Given the description of an element on the screen output the (x, y) to click on. 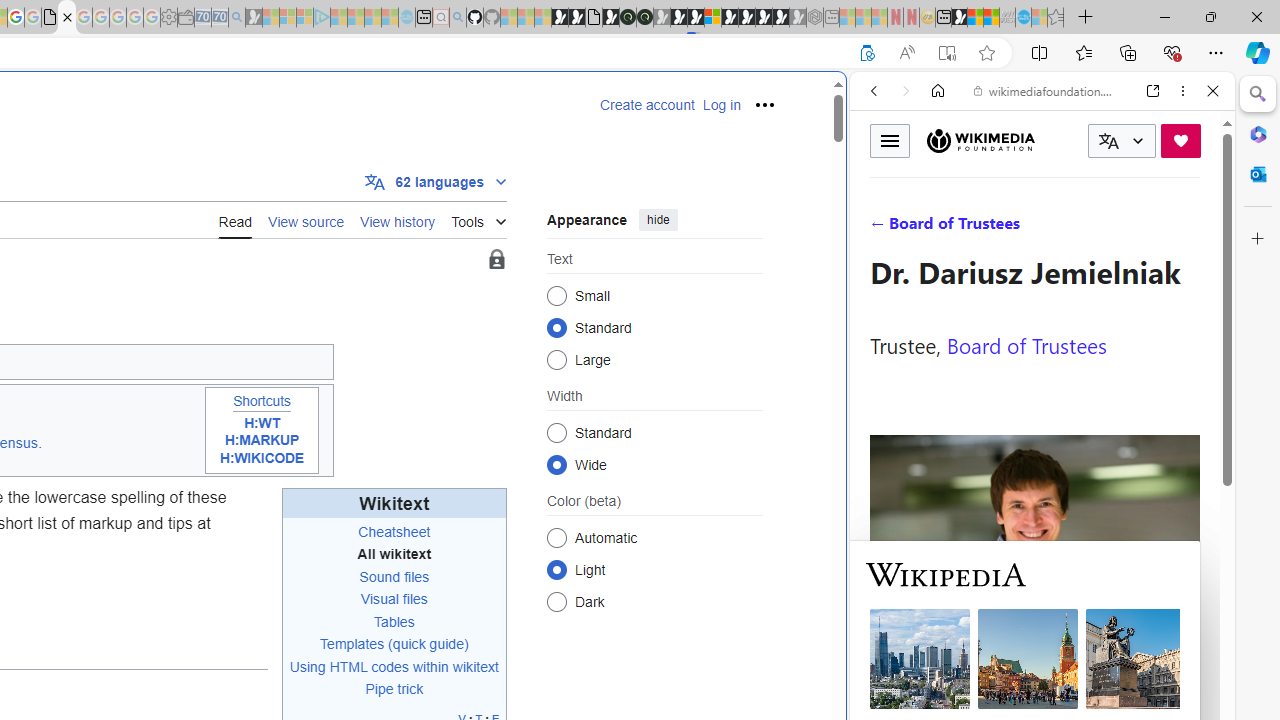
Wikimedia Foundation (980, 140)
H:WT (262, 422)
VIDEOS (1006, 228)
Wikimedia Foundation (980, 141)
All wikitext (394, 553)
Search Filter, WEB (882, 228)
Search Filter, Search Tools (1093, 228)
(quick guide) (427, 644)
Small (556, 295)
H:WIKICODE (262, 457)
